Given the description of an element on the screen output the (x, y) to click on. 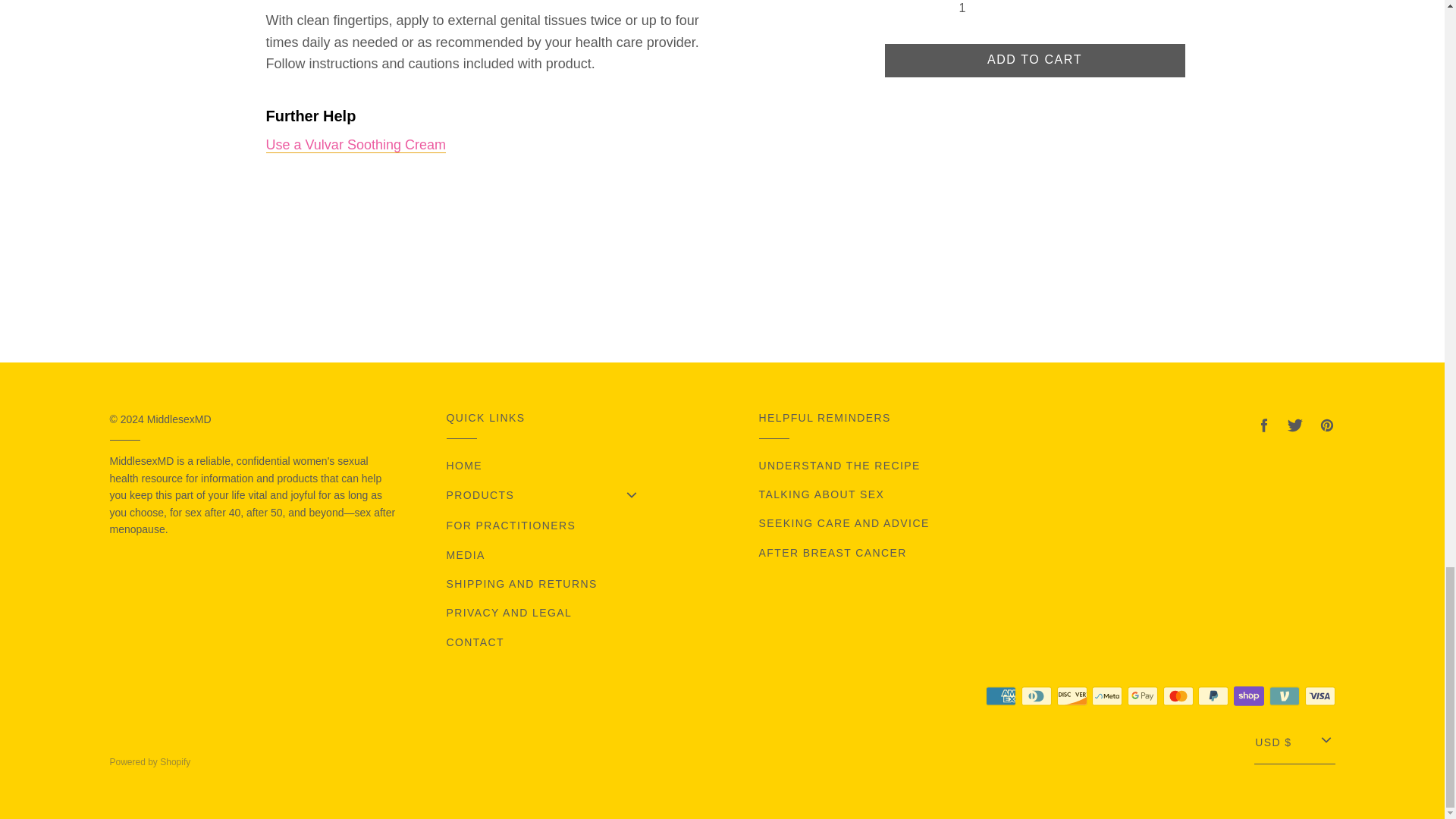
Shop Pay (1248, 695)
MiddlesexMD on Twitter (1295, 425)
American Express (1000, 695)
MiddlesexMD on Pinterest (1326, 425)
Venmo (1284, 695)
Diners Club (1036, 695)
Discover (1072, 695)
Google Pay (1141, 695)
PayPal (1213, 695)
Visa (1319, 695)
Mastercard (1178, 695)
MiddlesexMD on Facebook (1263, 425)
Meta Pay (1107, 695)
